Given the description of an element on the screen output the (x, y) to click on. 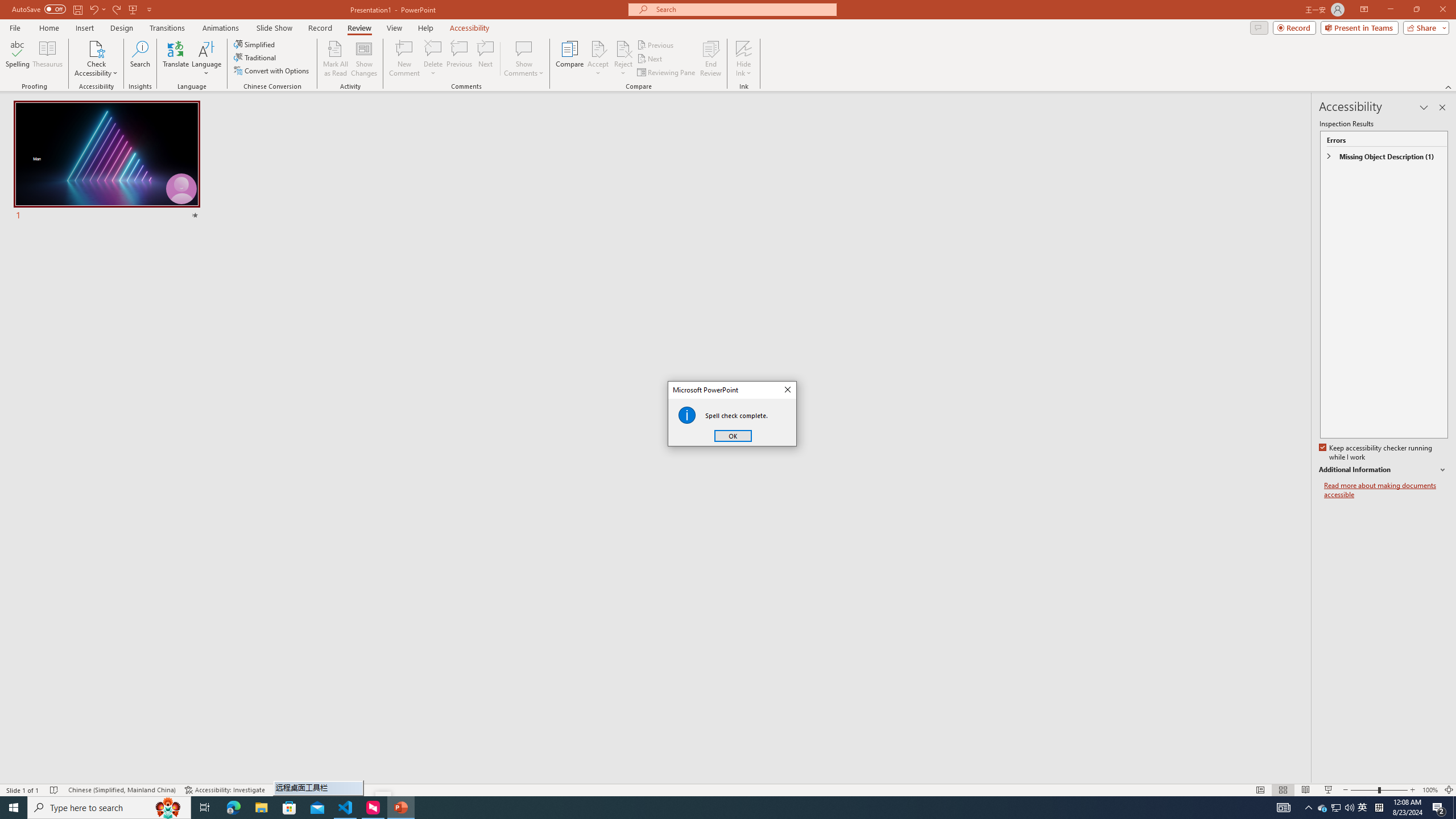
Next (649, 58)
Previous (655, 44)
Traditional (255, 56)
Accept Change (598, 48)
